Given the description of an element on the screen output the (x, y) to click on. 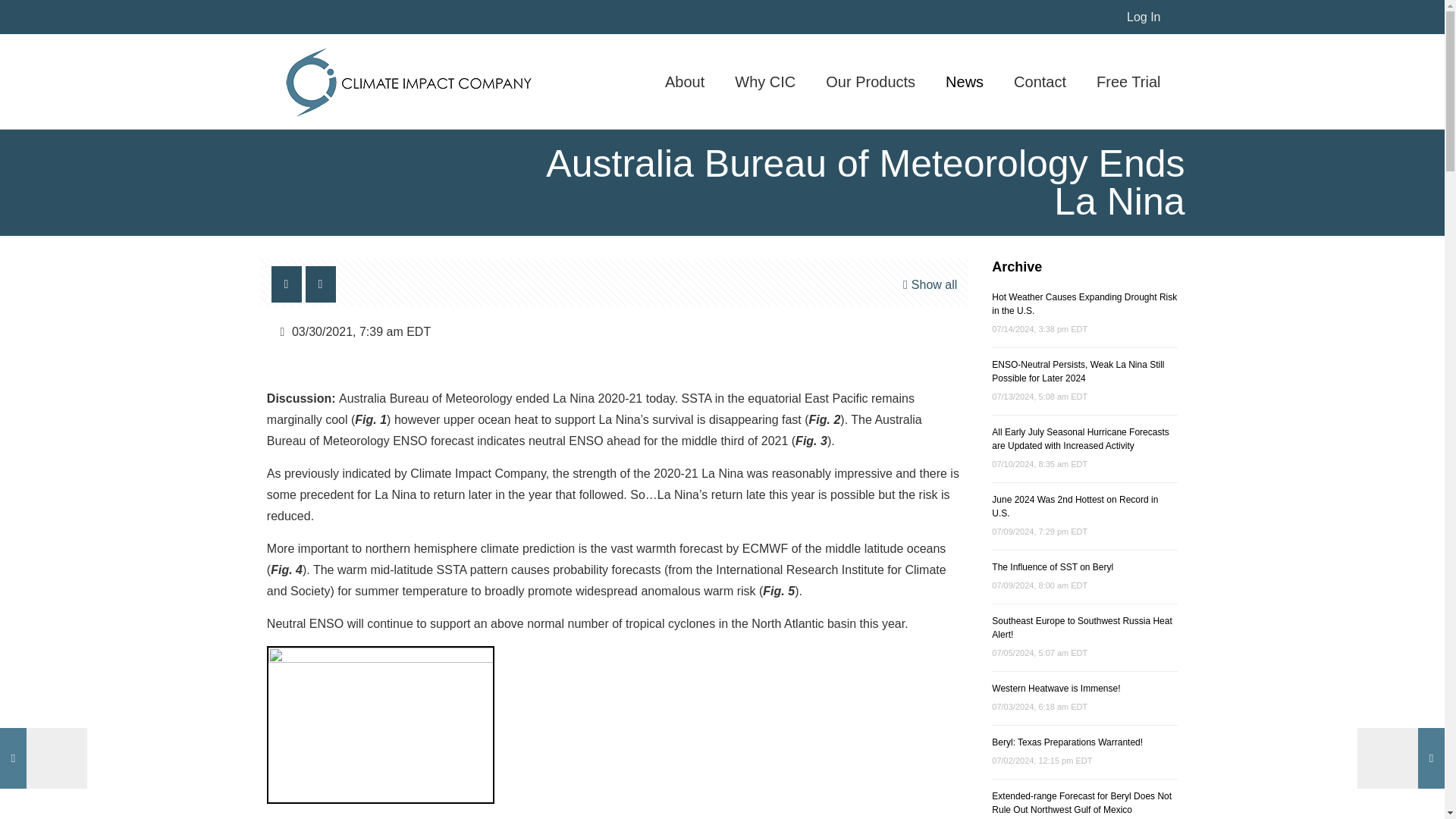
The Influence of SST on Beryl (1052, 566)
June 2024 Was 2nd Hottest on Record in U.S. (1074, 506)
Southeast Europe to Southwest Russia Heat Alert! (1081, 627)
Free Trial (1127, 81)
Western Heatwave is Immense! (1055, 688)
Show all (927, 284)
Our Products (870, 81)
Climate Impact Company (407, 81)
Hot Weather Causes Expanding Drought Risk in the U.S. (1083, 303)
Beryl: Texas Preparations Warranted! (1066, 742)
Log In (1143, 16)
Why CIC (764, 81)
